Given the description of an element on the screen output the (x, y) to click on. 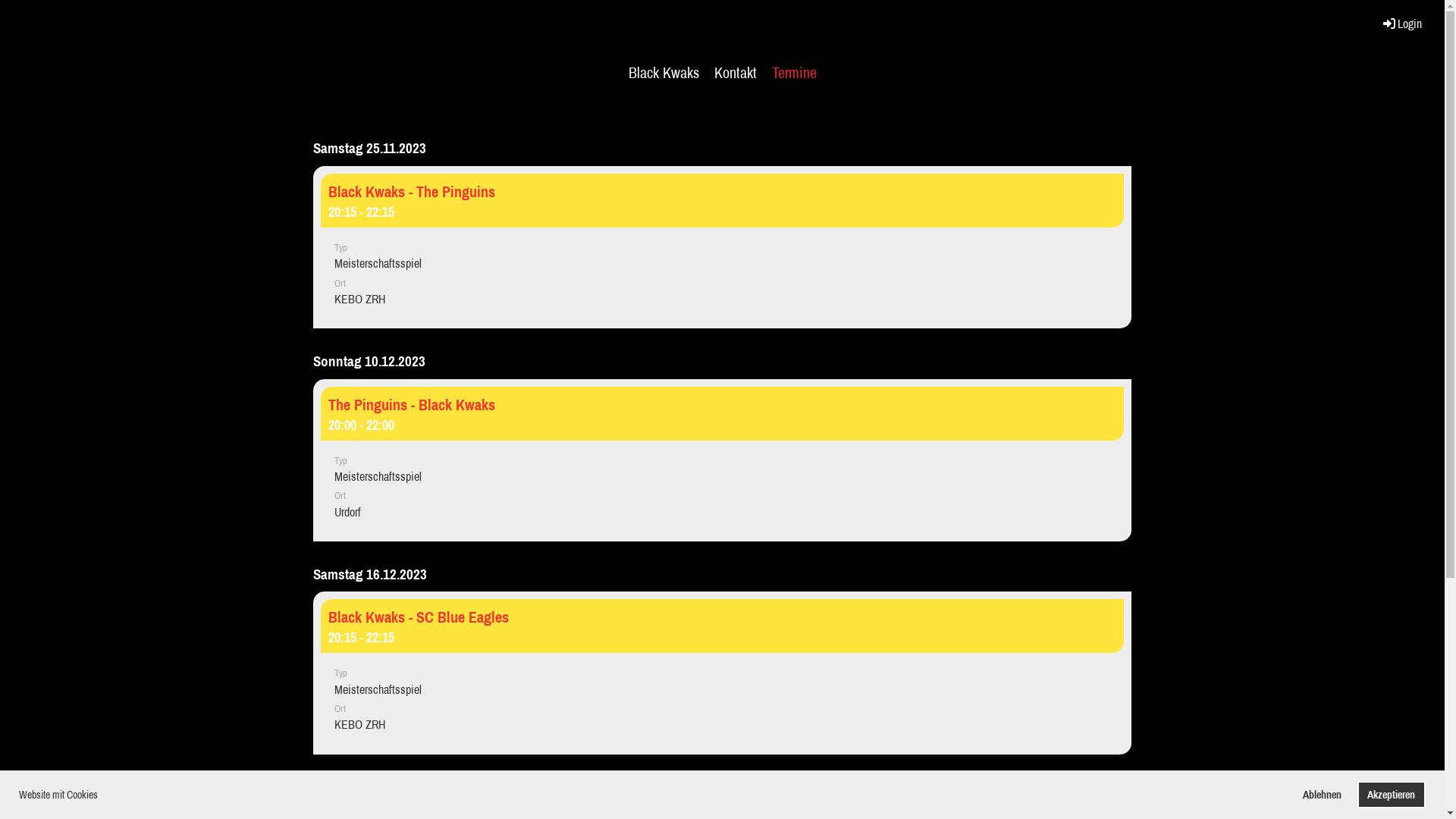
Ablehnen Element type: text (1322, 794)
Kontakt Element type: text (735, 69)
Akzeptieren Element type: text (1391, 794)
Termine Element type: text (794, 69)
Login Element type: text (1400, 23)
Termine abonnieren Element type: text (369, 785)
Black Kwaks Element type: text (663, 69)
